Given the description of an element on the screen output the (x, y) to click on. 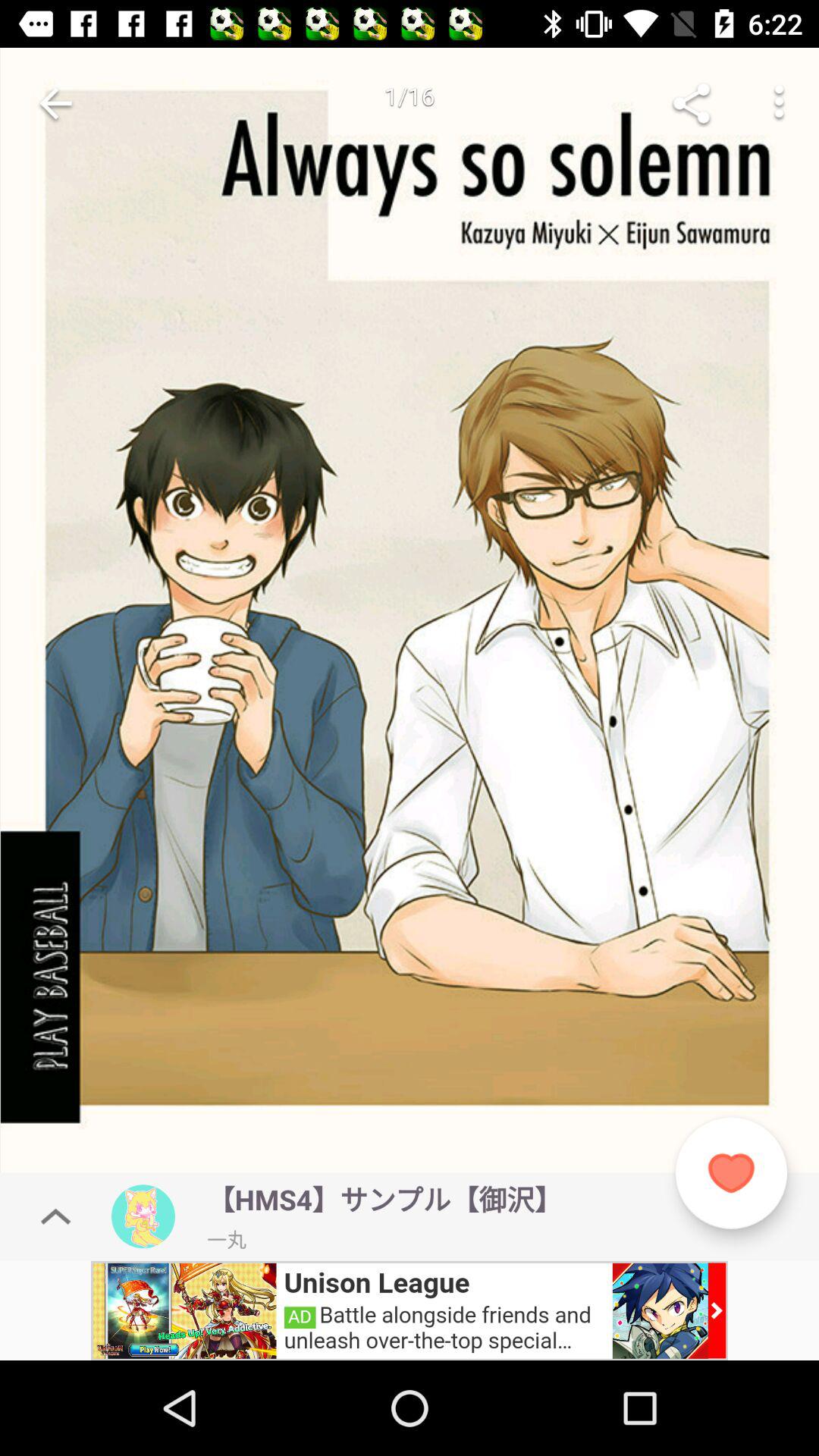
share (691, 103)
